Given the description of an element on the screen output the (x, y) to click on. 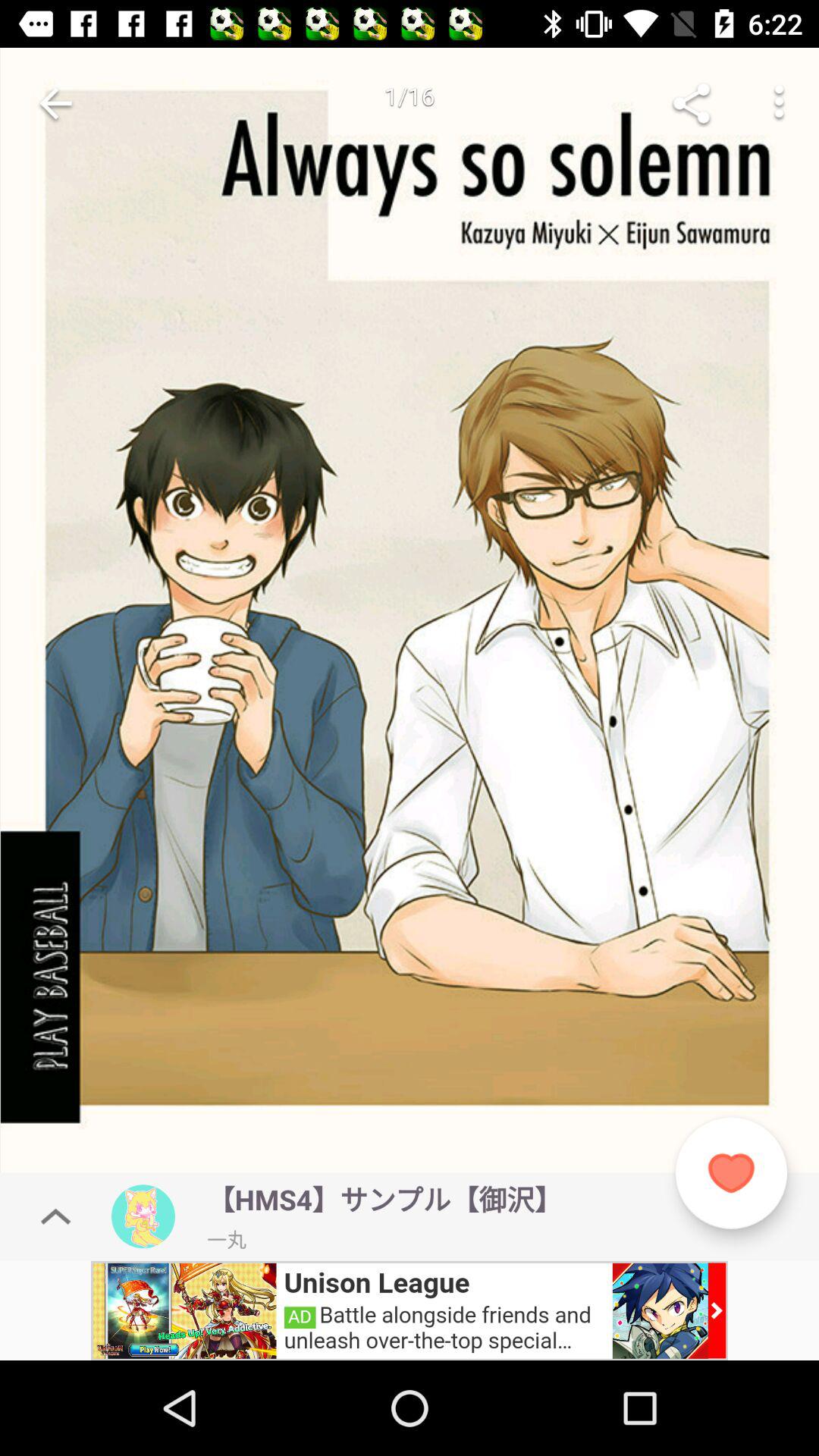
share (691, 103)
